Given the description of an element on the screen output the (x, y) to click on. 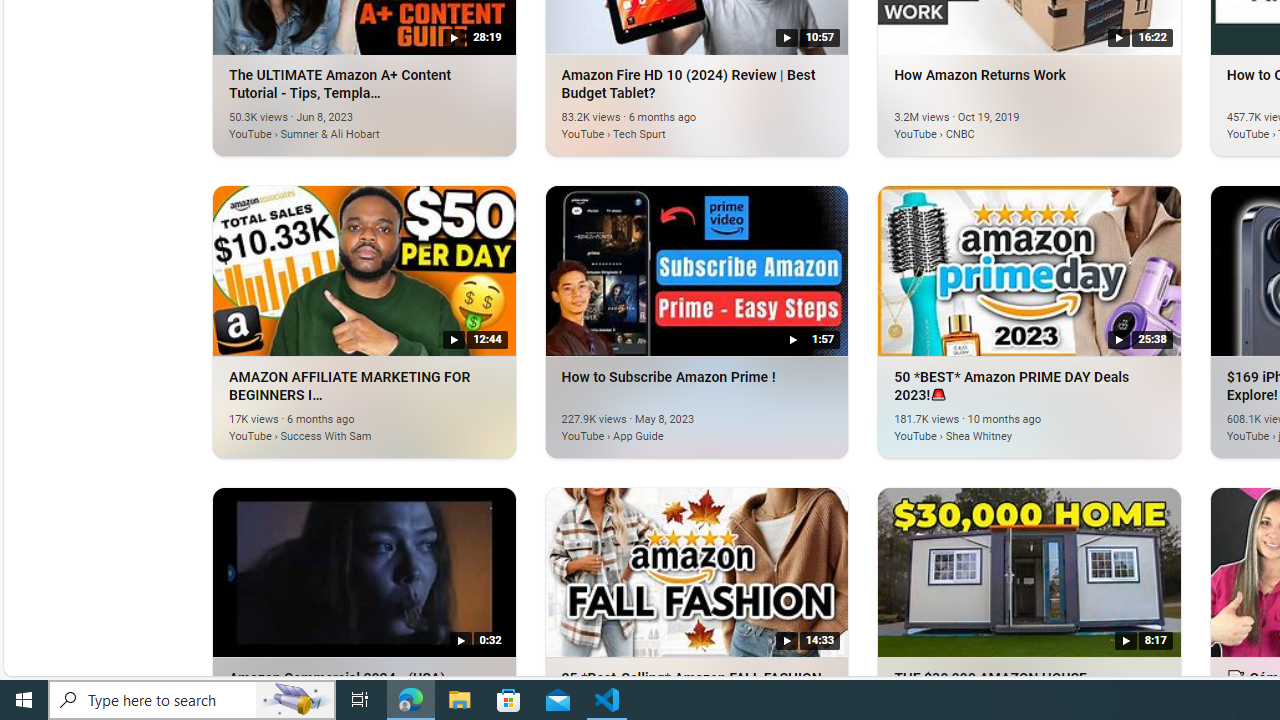
How to Subscribe Amazon Prime ! (667, 424)
25 *Best-Selling* Amazon FALL FASHION 2023! (696, 571)
THE $30,000 AMAZON HOUSE. (1029, 571)
Amazon Commercial 2024 - (USA) (363, 571)
